Given the description of an element on the screen output the (x, y) to click on. 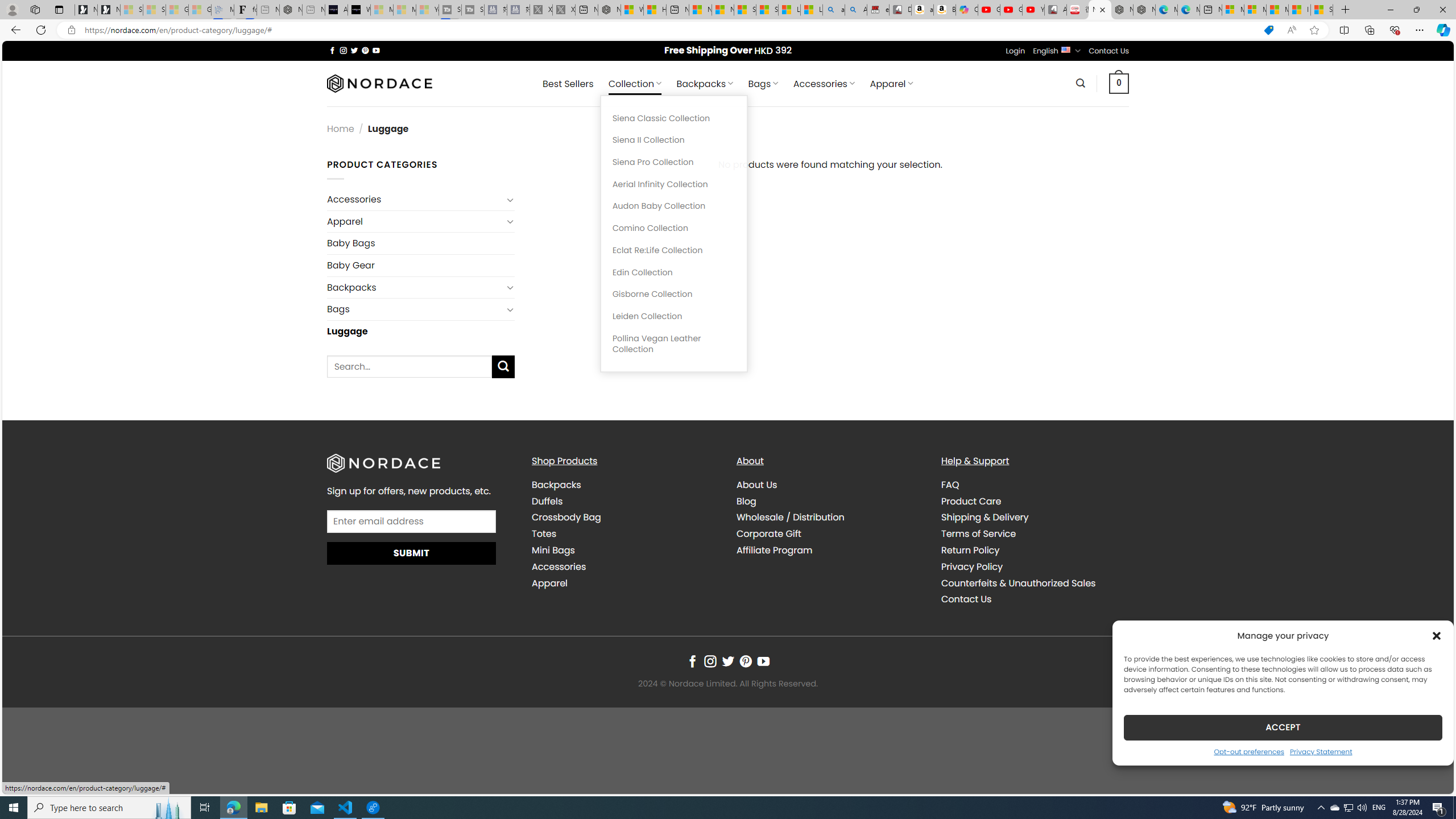
Affiliate Program (830, 549)
Settings and more (Alt+F) (1419, 29)
Refresh (40, 29)
AutomationID: input_4_1 (411, 521)
About Us (756, 484)
Shipping & Delivery (1034, 517)
Apparel (549, 582)
Nordace (379, 83)
Aerial Infinity Collection (672, 183)
Copilot (Ctrl+Shift+.) (1442, 29)
